Given the description of an element on the screen output the (x, y) to click on. 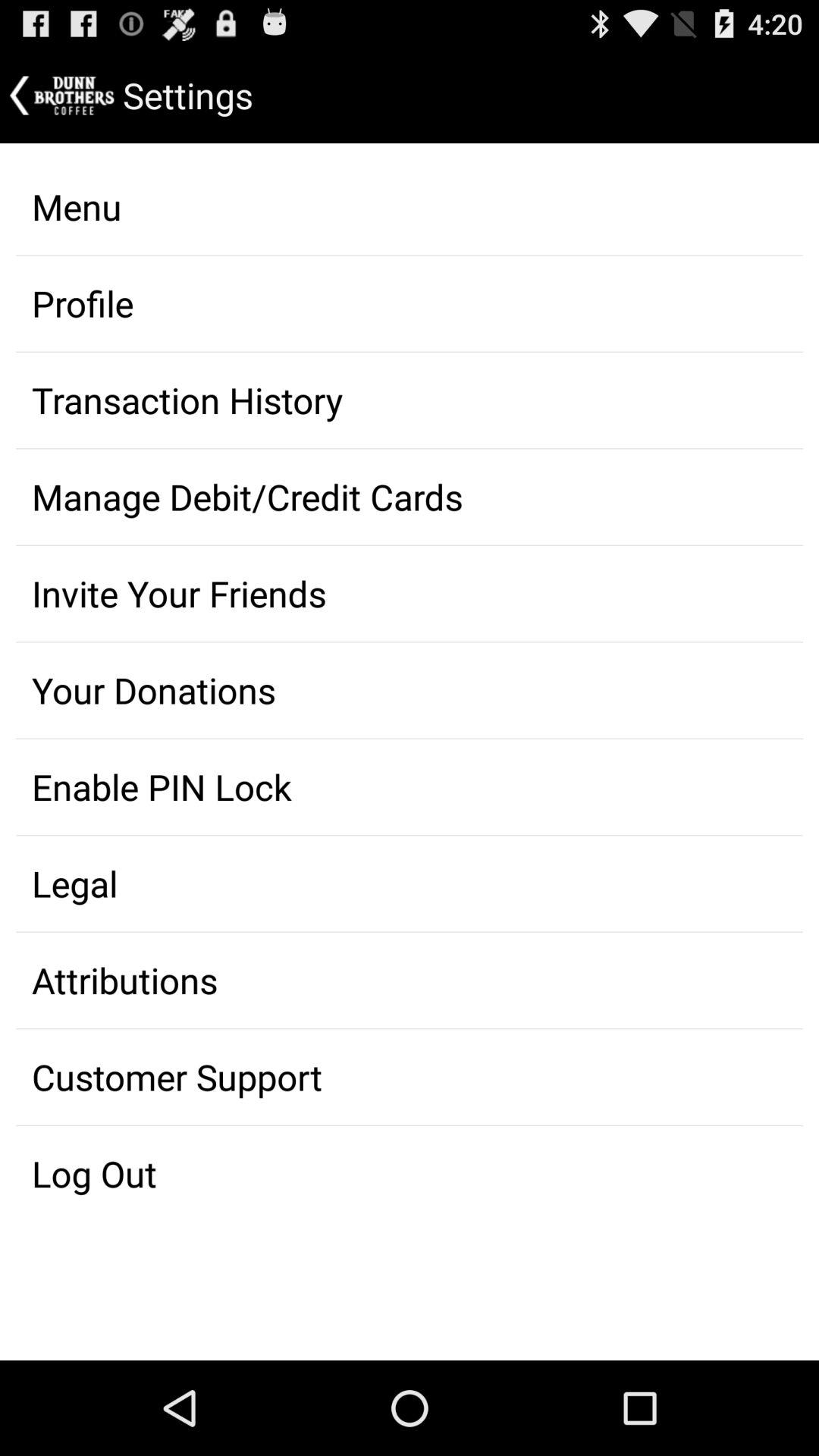
scroll until enable pin lock app (409, 786)
